Given the description of an element on the screen output the (x, y) to click on. 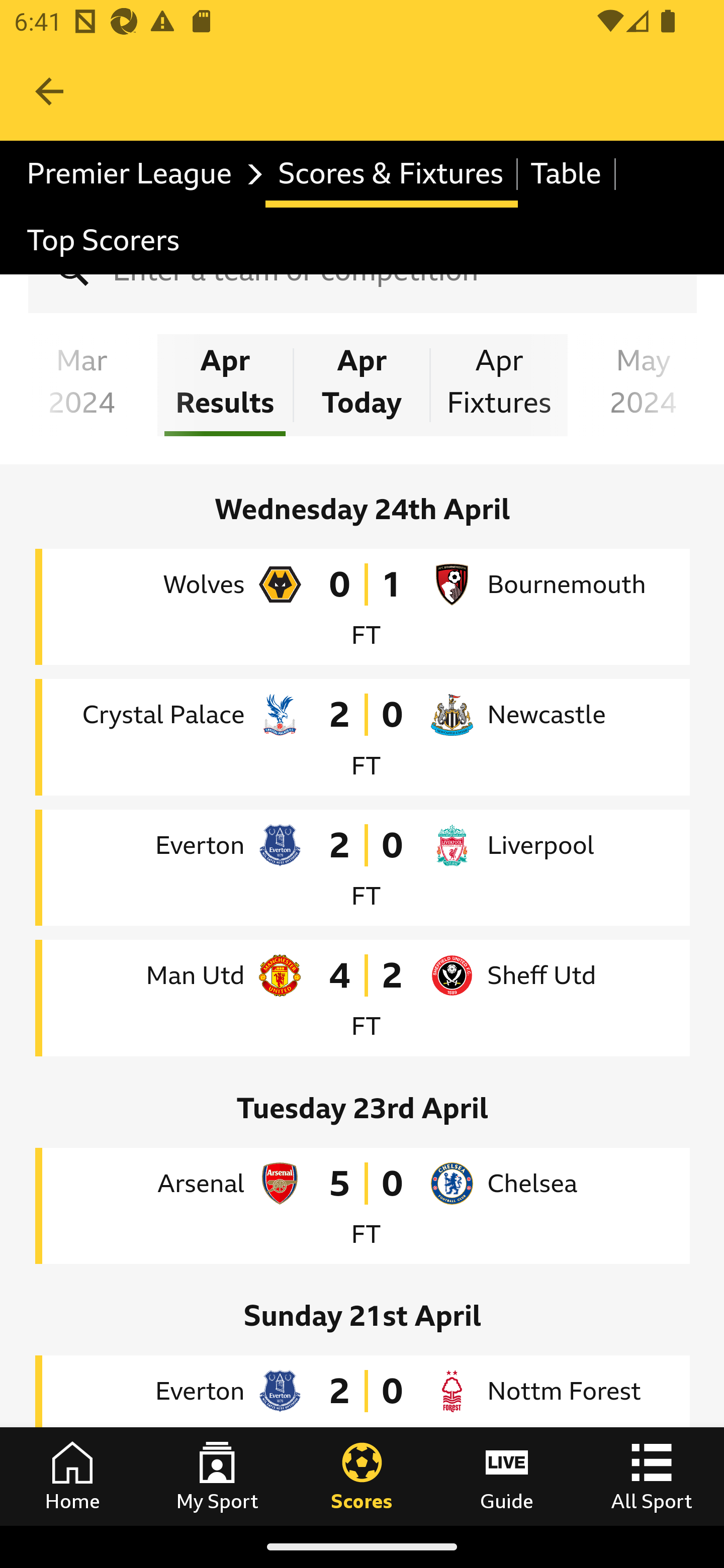
Navigate up (49, 91)
Premier League (140, 173)
Scores & Fixtures (391, 173)
Table (567, 173)
Top Scorers (103, 240)
Home (72, 1475)
My Sport (216, 1475)
Guide (506, 1475)
All Sport (651, 1475)
